Given the description of an element on the screen output the (x, y) to click on. 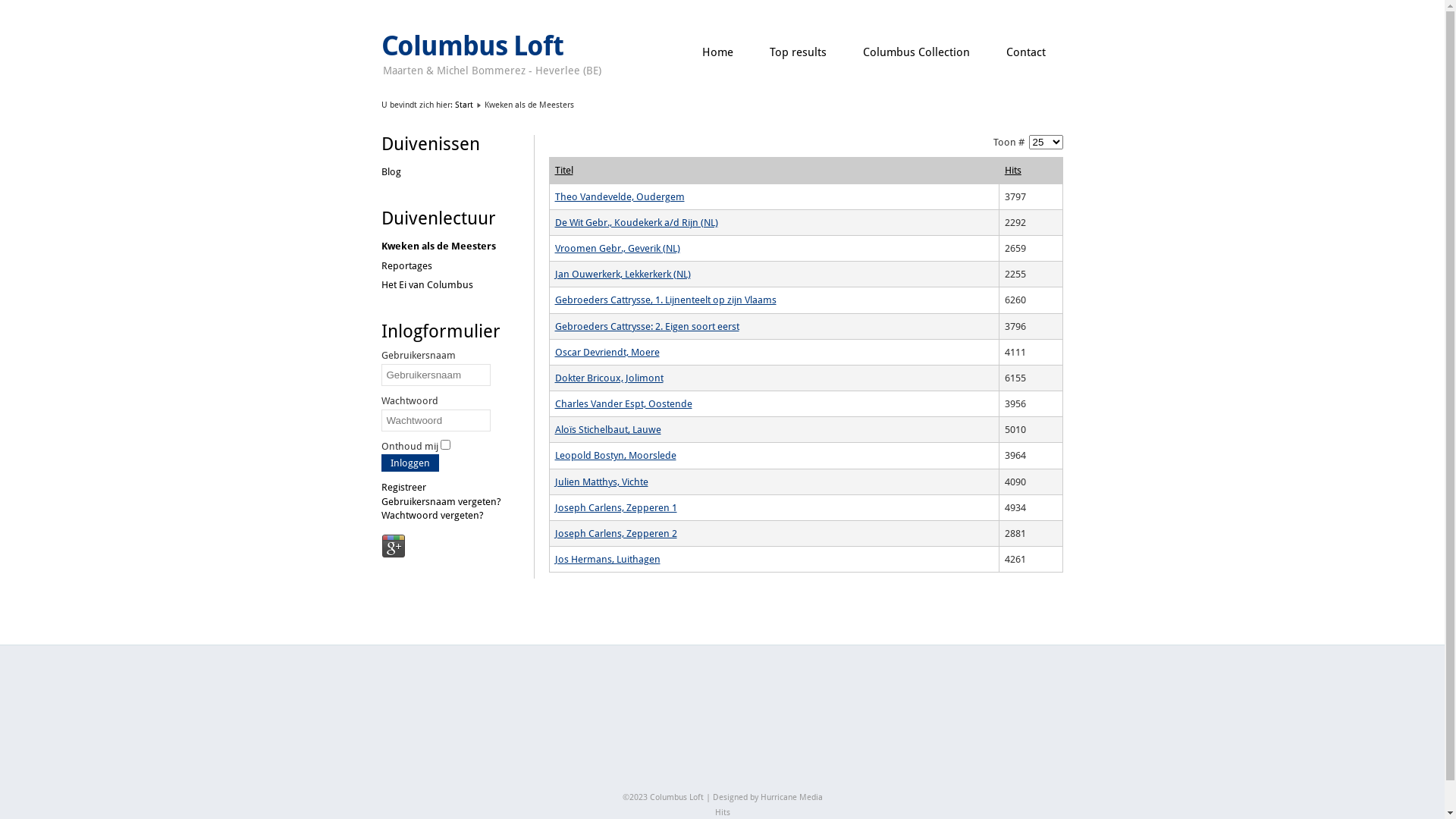
Dokter Bricoux, Jolimont Element type: text (609, 377)
Home Element type: text (717, 52)
Kweken als de Meesters Element type: text (437, 245)
Joseph Carlens, Zepperen 1 Element type: text (616, 507)
Joseph Carlens, Zepperen 2 Element type: text (616, 533)
Gebroeders Cattrysse: 2. Eigen soort eerst Element type: text (647, 325)
Registreer Element type: text (402, 486)
Columbus Loft Element type: text (471, 46)
Start Element type: text (464, 104)
Inloggen Element type: text (409, 462)
Hits Element type: text (721, 812)
Titel Element type: text (564, 169)
Jos Hermans, Luithagen Element type: text (607, 558)
Leopold Bostyn, Moorslede Element type: text (615, 455)
Hits Element type: text (1012, 169)
Het Ei van Columbus Element type: text (426, 284)
Top results Element type: text (797, 52)
Charles Vander Espt, Oostende Element type: text (623, 403)
Blog Element type: text (390, 171)
Contact Element type: text (1024, 52)
Oscar Devriendt, Moere Element type: text (607, 351)
Julien Matthys, Vichte Element type: text (601, 481)
Vroomen Gebr., Geverik (NL) Element type: text (617, 248)
Gebroeders Cattrysse, 1. Lijnenteelt op zijn Vlaams Element type: text (665, 299)
Wachtwoord vergeten? Element type: text (431, 514)
De Wit Gebr., Koudekerk a/d Rijn (NL) Element type: text (636, 222)
Jan Ouwerkerk, Lekkerkerk (NL) Element type: text (622, 273)
Columbus Collection Element type: text (916, 52)
Reportages Element type: text (405, 265)
Theo Vandevelde, Oudergem Element type: text (619, 196)
Gebruikersnaam vergeten? Element type: text (440, 501)
Google+ Element type: hover (393, 546)
